Given the description of an element on the screen output the (x, y) to click on. 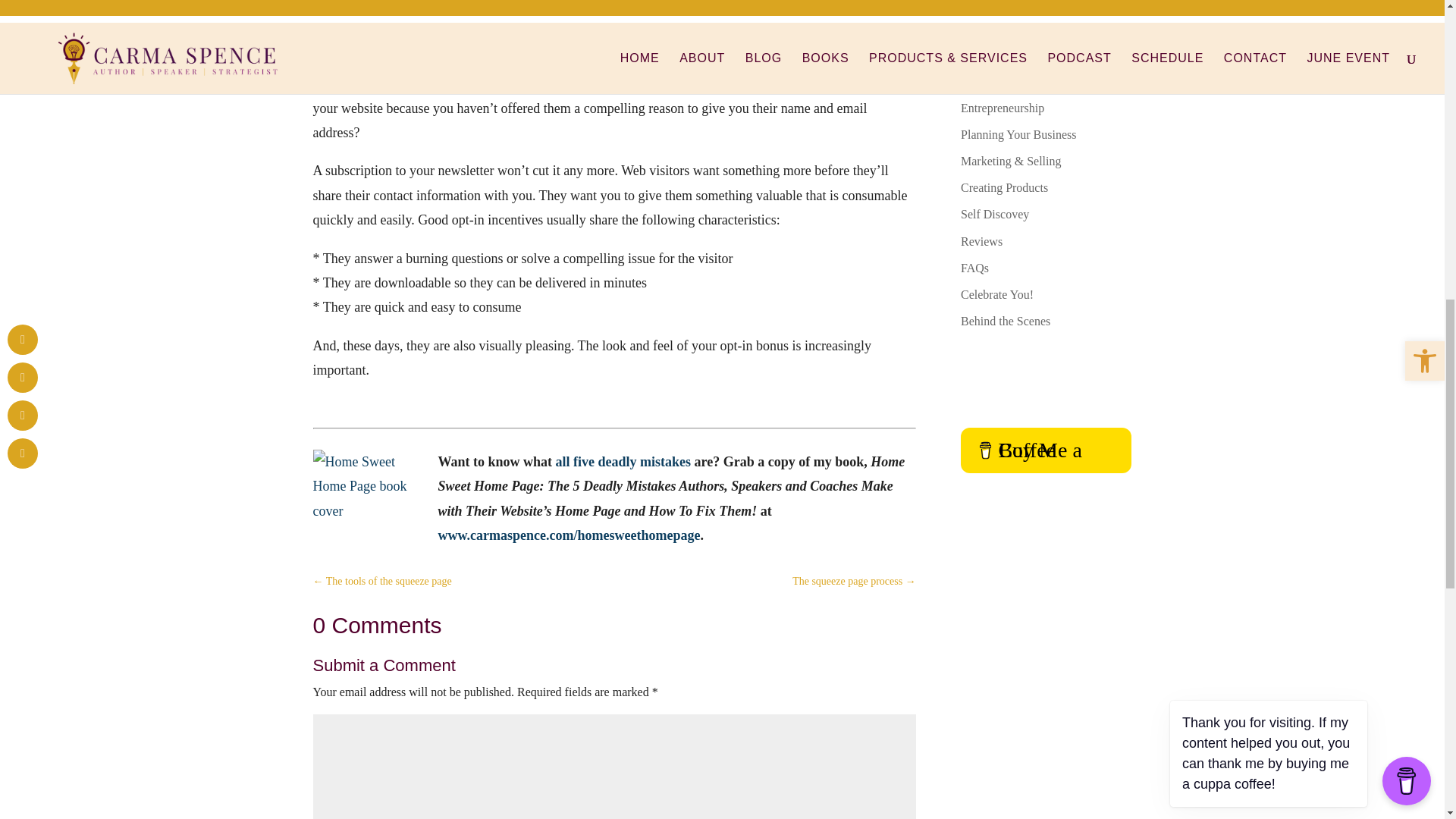
Home Sweet Home Page book cover (369, 506)
all five deadly mistakes (623, 461)
